Given the description of an element on the screen output the (x, y) to click on. 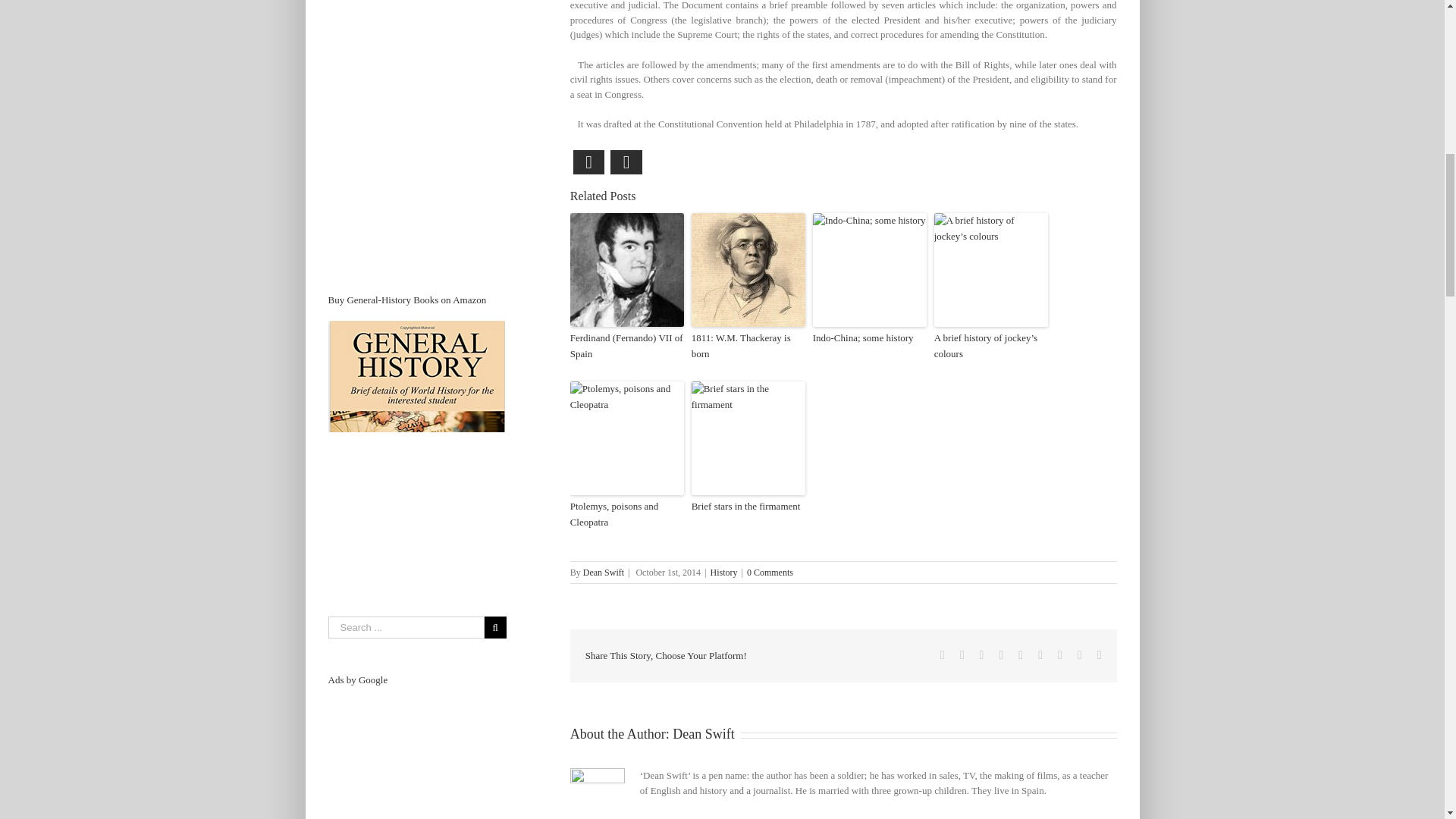
Ptolemys, poisons and Cleopatra (627, 514)
Posts by Dean Swift (702, 734)
Posts by Dean Swift (603, 572)
Indo-China; some history (869, 338)
Brief stars in the firmament (748, 506)
Share this article on Facebook (589, 162)
1811: W.M. Thackeray is born (748, 346)
Share this article on X (626, 162)
